Given the description of an element on the screen output the (x, y) to click on. 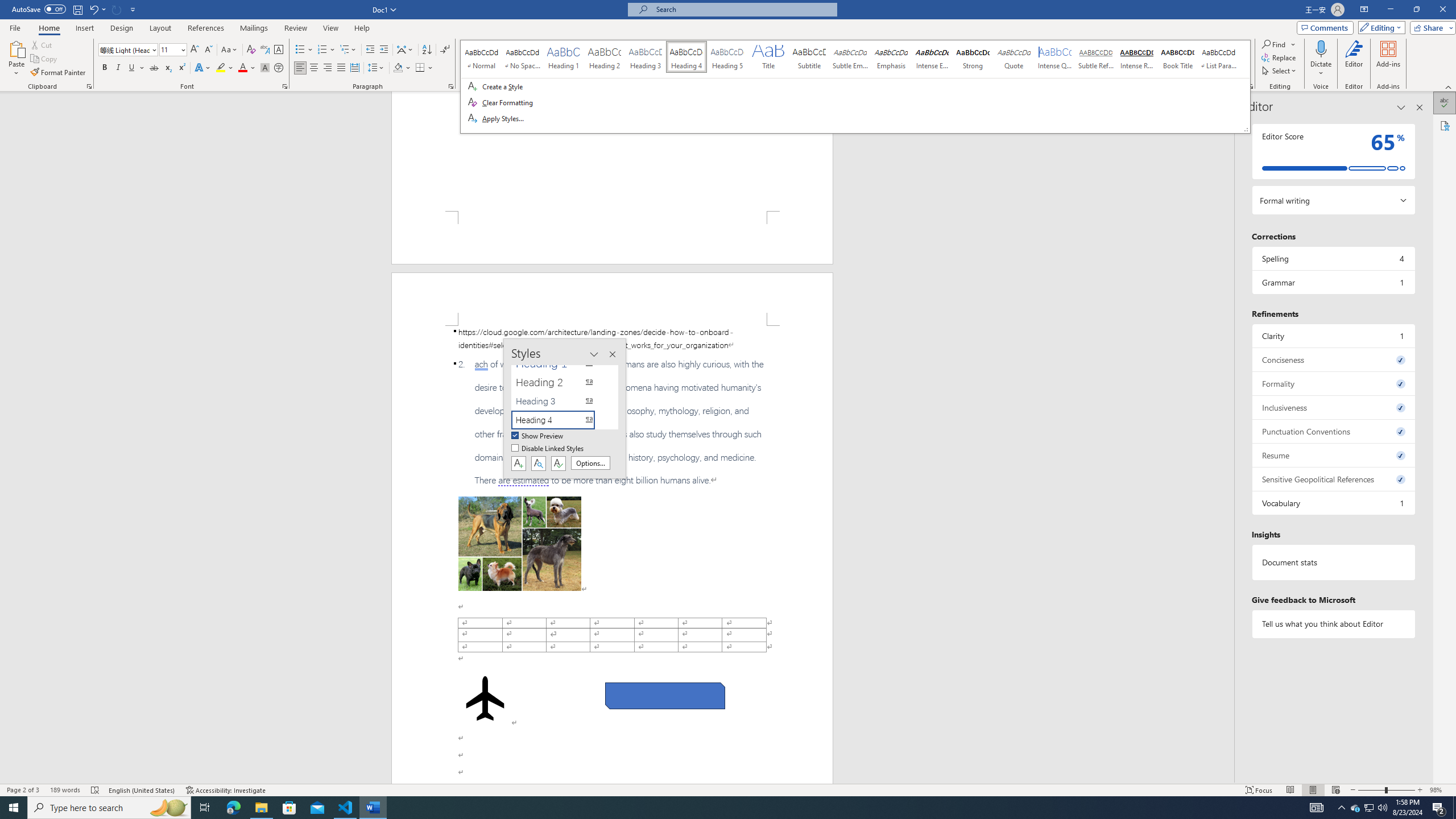
Grammar, 1 issue. Press space or enter to review items. (1333, 282)
Undo Style (96, 9)
User Promoted Notification Area (1368, 807)
Type here to search (108, 807)
Spelling, 4 issues. Press space or enter to review items. (1333, 258)
Task View (204, 807)
